Given the description of an element on the screen output the (x, y) to click on. 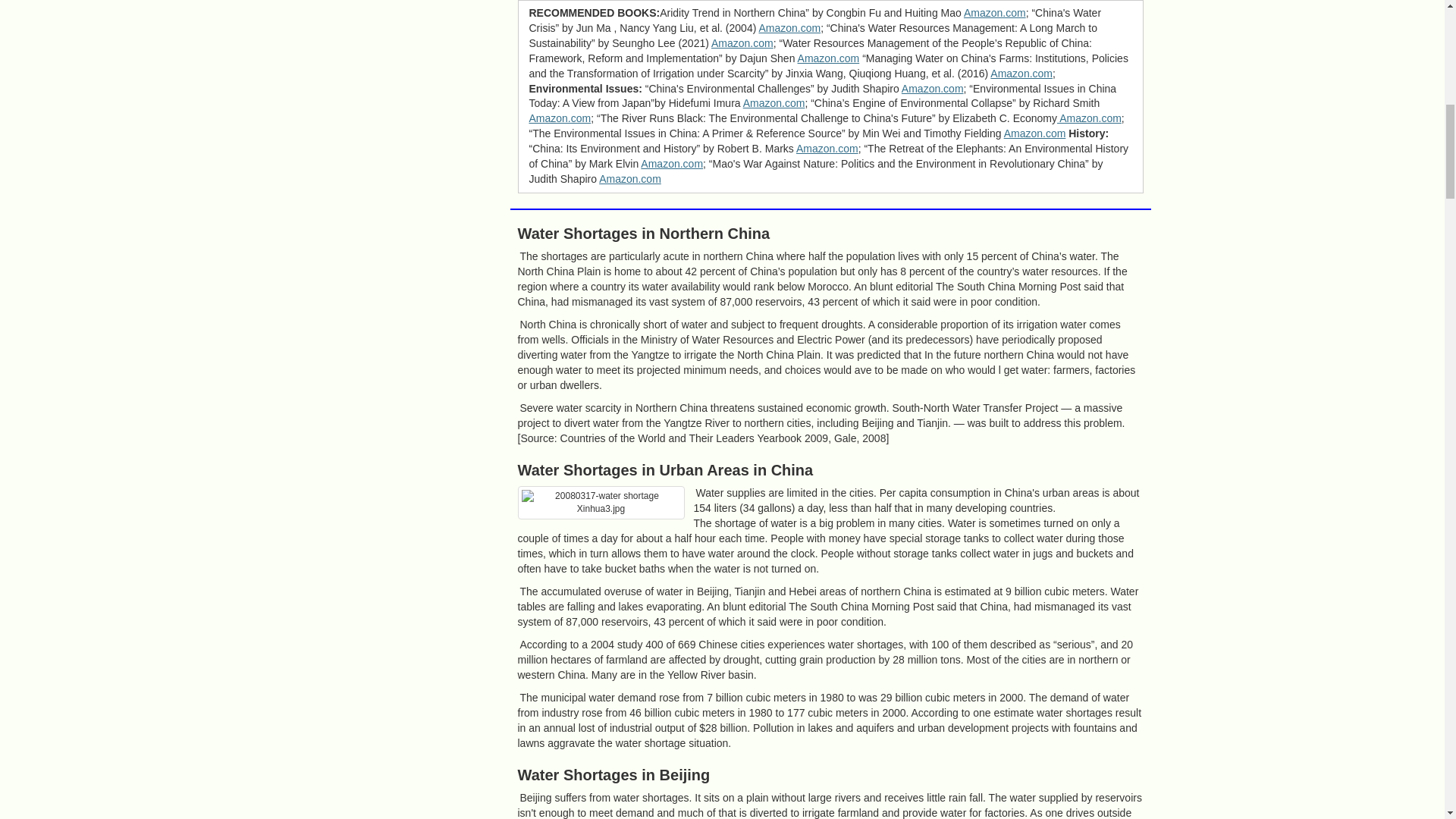
Amazon.com (789, 28)
20080317-water shortage Xinhua3.jpg (600, 502)
Amazon.com (742, 42)
Amazon.com (994, 12)
